Given the description of an element on the screen output the (x, y) to click on. 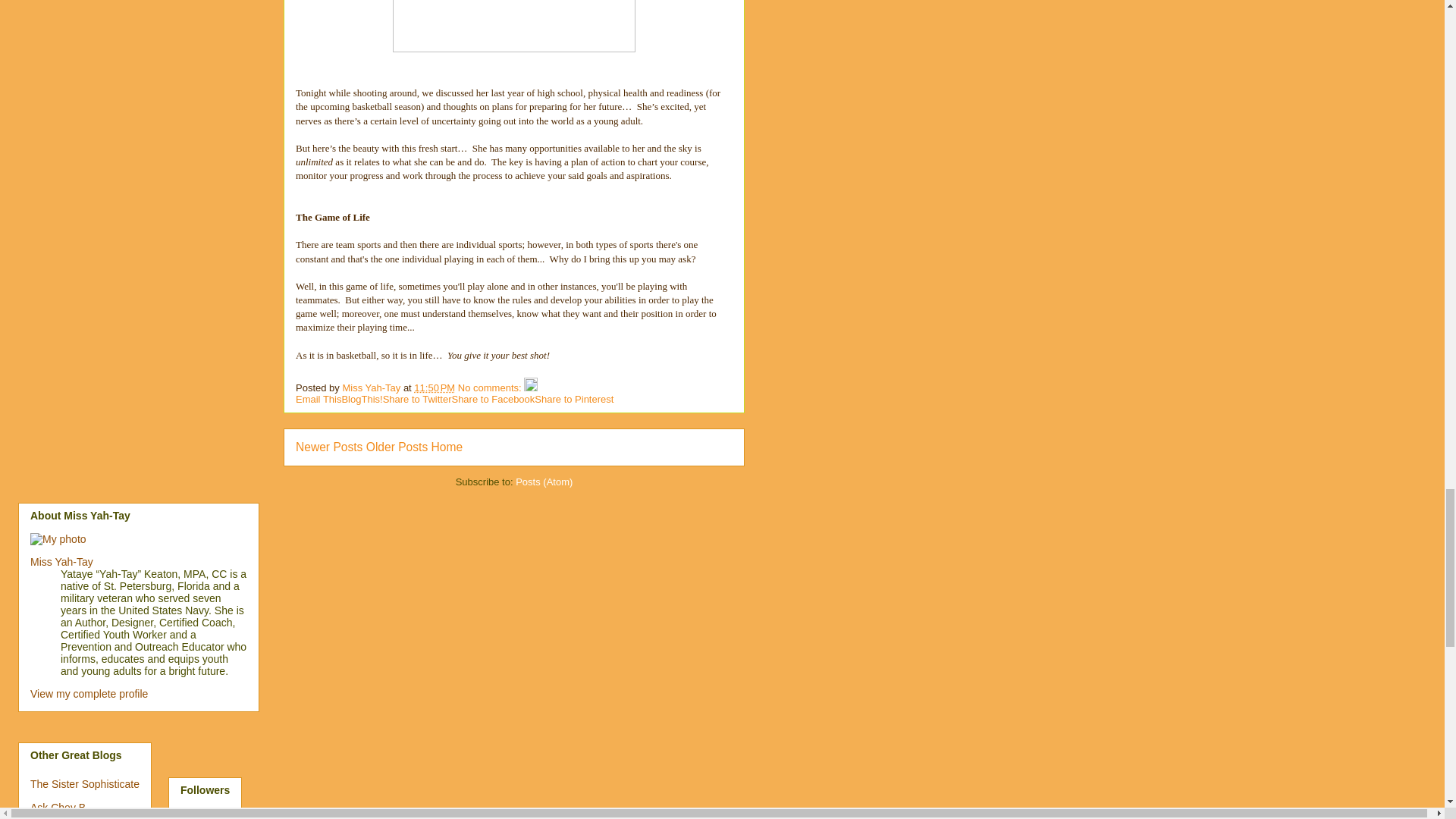
Newer Posts (328, 446)
Miss Yah-Tay (372, 387)
Older Posts (397, 446)
Email This (317, 398)
BlogThis! (360, 398)
Share to Facebook (492, 398)
No comments: (491, 387)
Share to Pinterest (573, 398)
Share to Twitter (416, 398)
